Given the description of an element on the screen output the (x, y) to click on. 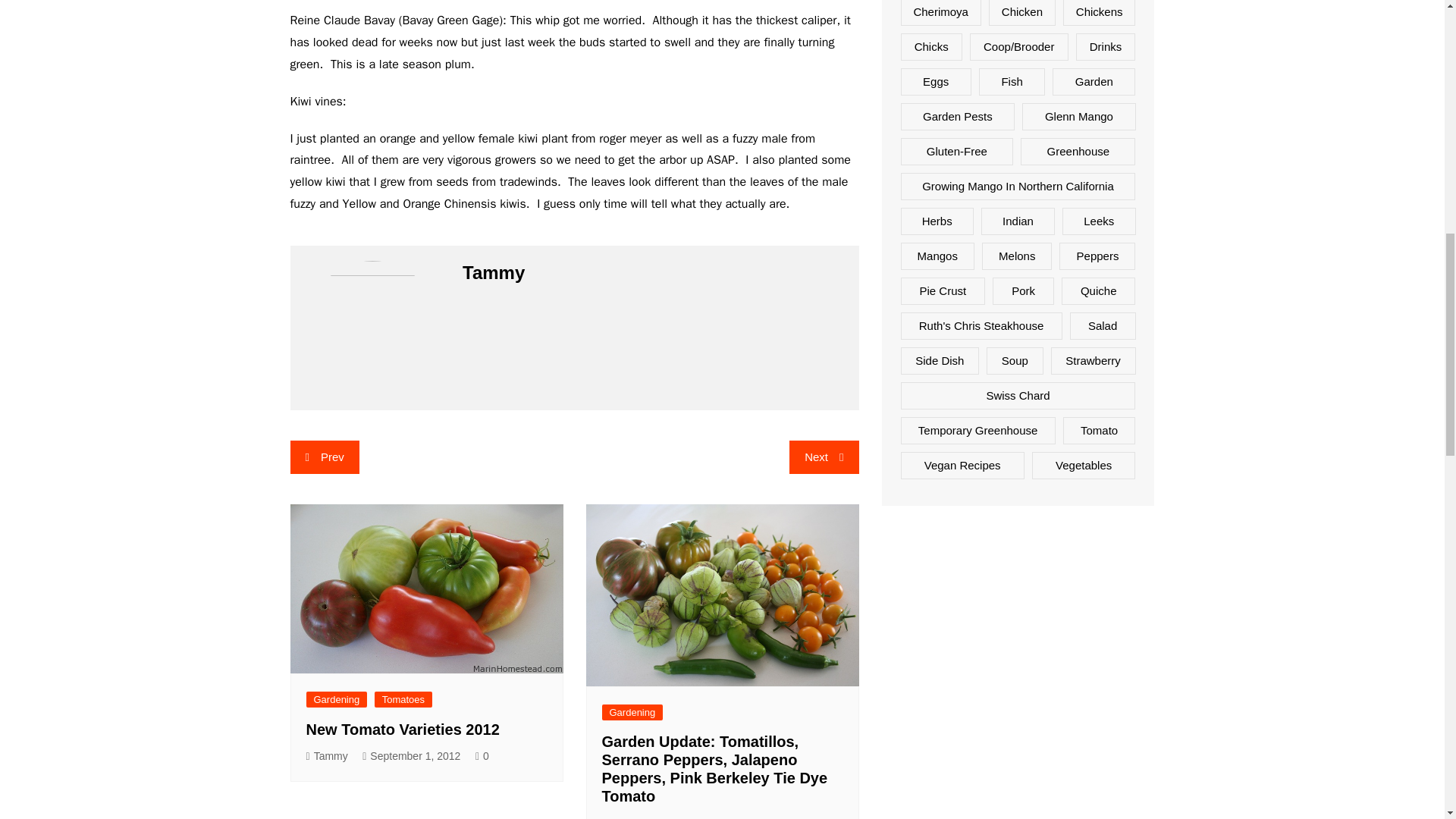
Prev (323, 457)
Tammy (622, 816)
September 1, 2012 (411, 755)
Tomatoes (403, 699)
Tammy (326, 755)
Gardening (336, 699)
New Tomato Varieties 2012 (402, 729)
Gardening (632, 712)
0 (764, 816)
